Given the description of an element on the screen output the (x, y) to click on. 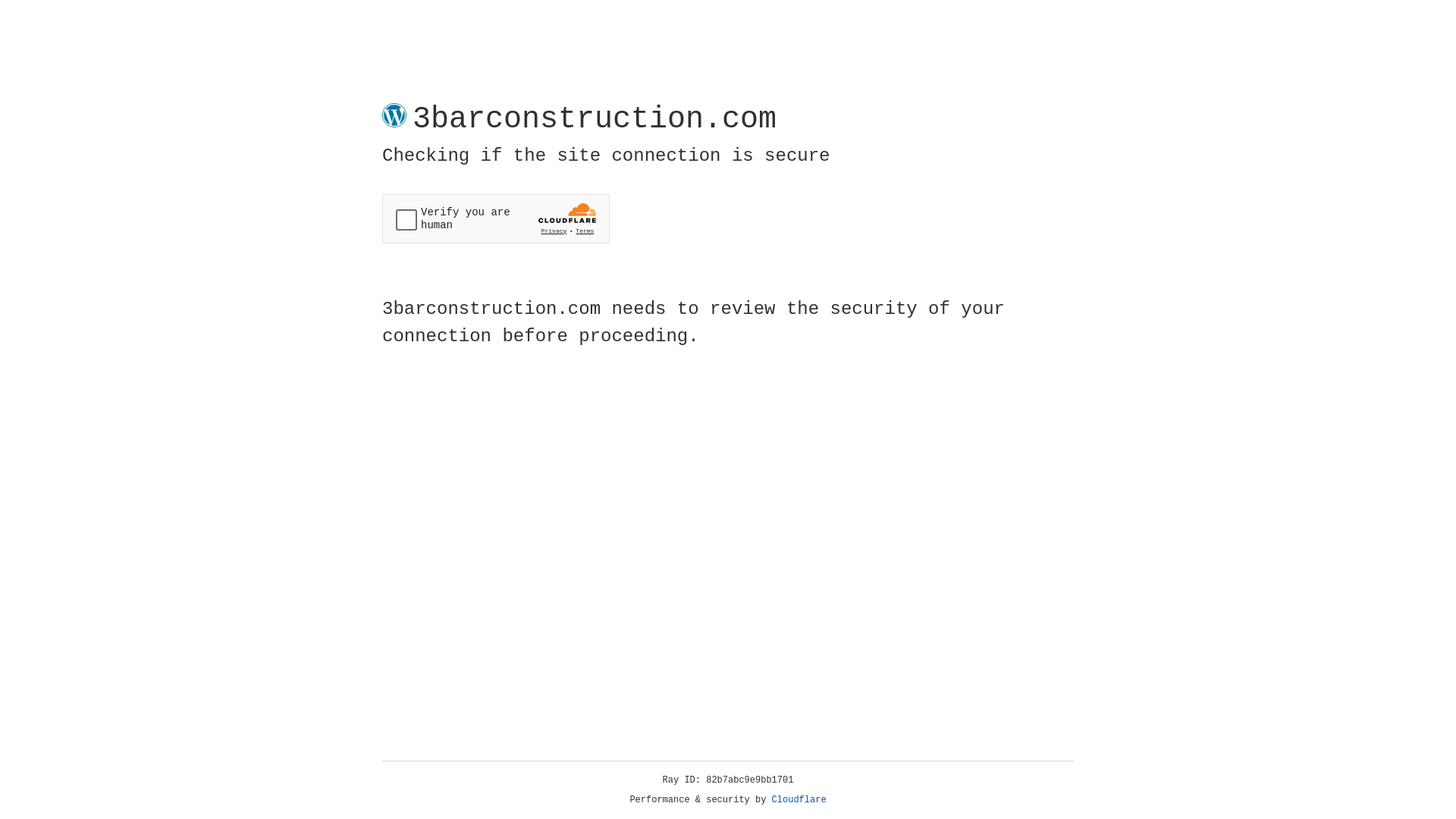
Widget containing a Cloudflare security challenge Element type: hover (495, 218)
Cloudflare Element type: text (798, 799)
